Given the description of an element on the screen output the (x, y) to click on. 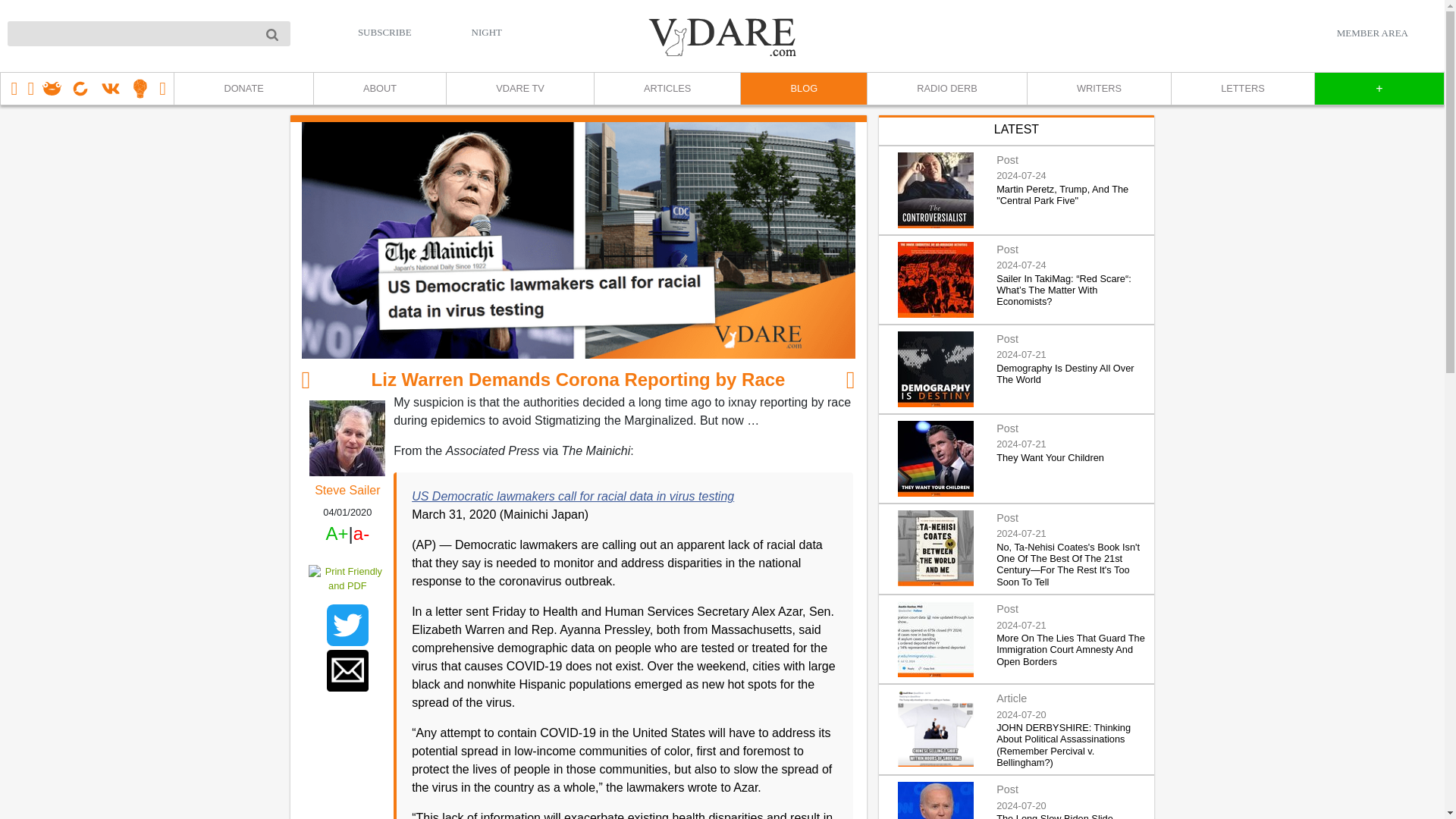
ABOUT (379, 88)
BLOG (802, 88)
Share to Twitter (347, 625)
Printer Friendly and PDF (347, 577)
Share to Email (347, 670)
VDARE TV (519, 88)
WRITERS (1098, 88)
DONATE (243, 88)
ARTICLES (666, 88)
MEMBER AREA (1371, 32)
RADIO DERB (946, 88)
SUBSCRIBE (385, 31)
LETTERS (1242, 88)
